Given the description of an element on the screen output the (x, y) to click on. 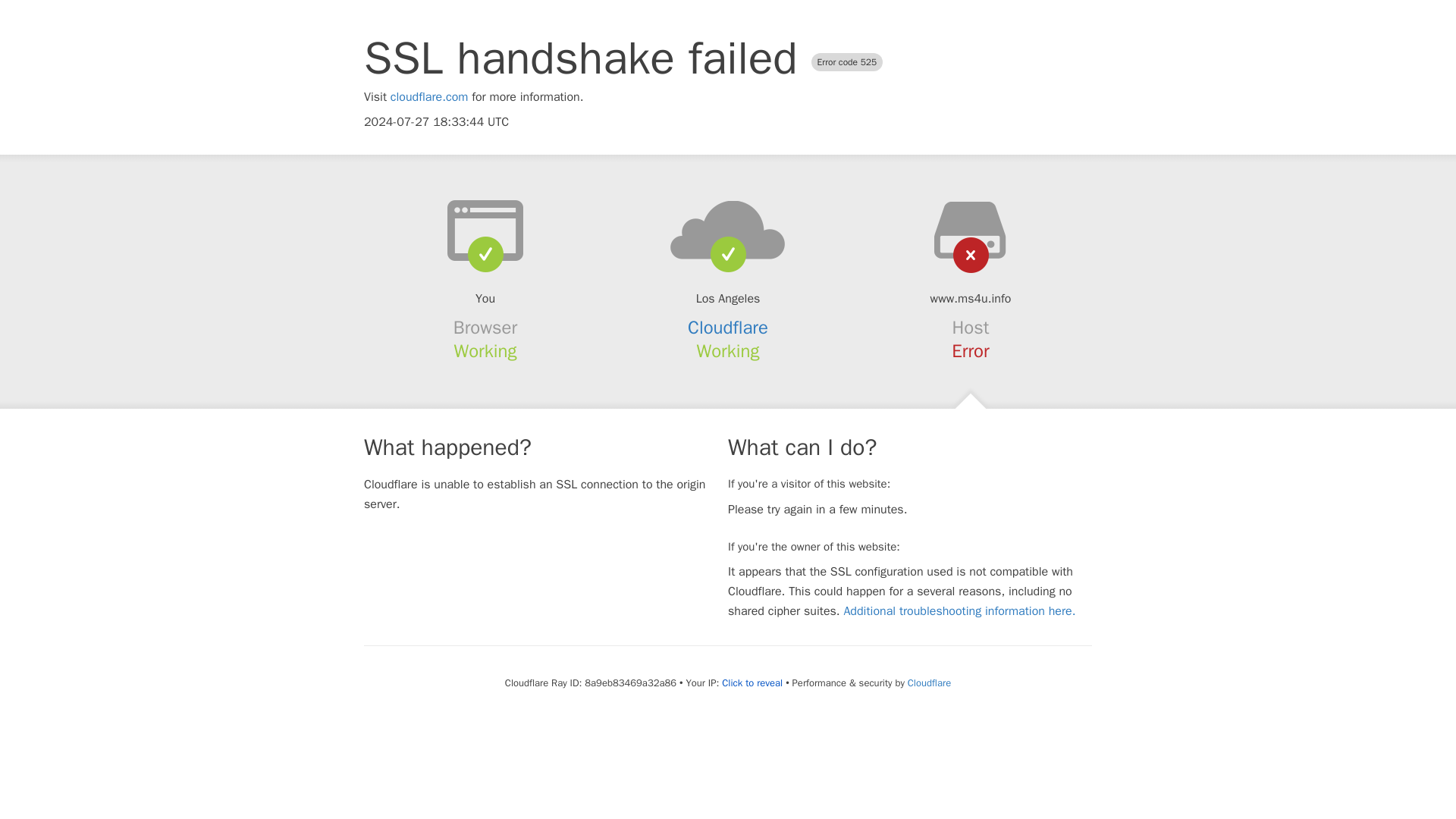
Cloudflare (727, 327)
cloudflare.com (429, 96)
Cloudflare (928, 682)
Click to reveal (752, 683)
Additional troubleshooting information here. (959, 611)
